Given the description of an element on the screen output the (x, y) to click on. 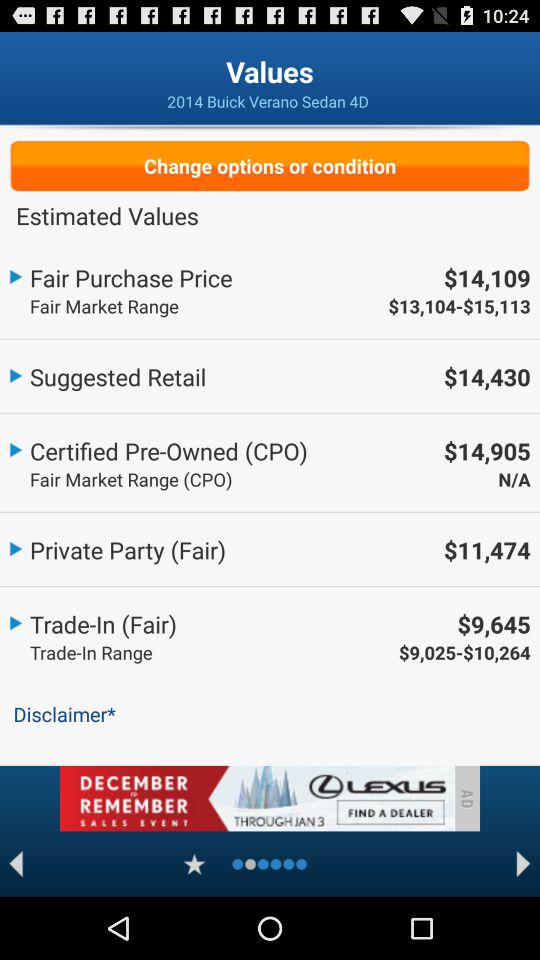
advertisement area (256, 798)
